Given the description of an element on the screen output the (x, y) to click on. 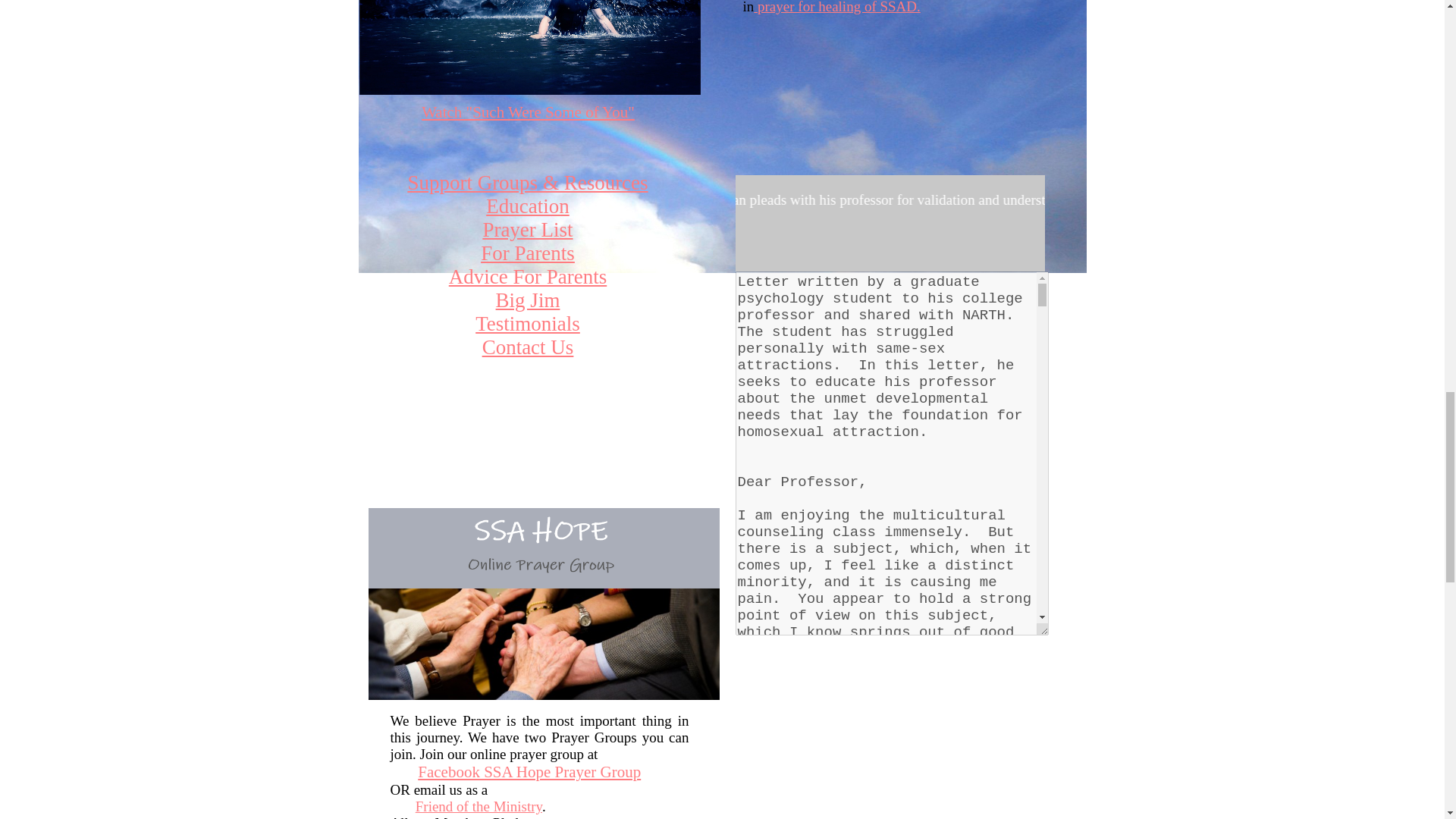
Facebook SSA Hope Prayer Group (528, 771)
Big Jim (528, 300)
Contact Us (527, 346)
Advice For Parents (527, 276)
Add you rchild to the SSA Hope Prayer List (526, 229)
Contact SSA Hope for help (527, 346)
Watch "Such Were Some of You" (528, 112)
Prayer List (526, 229)
prayer for healing of SSAD. (837, 7)
Friend of the Ministry (477, 806)
Prayers of a simple soul called Big Jim for SSA Families (528, 300)
Testimonials (527, 323)
For Parents (527, 252)
